Given the description of an element on the screen output the (x, y) to click on. 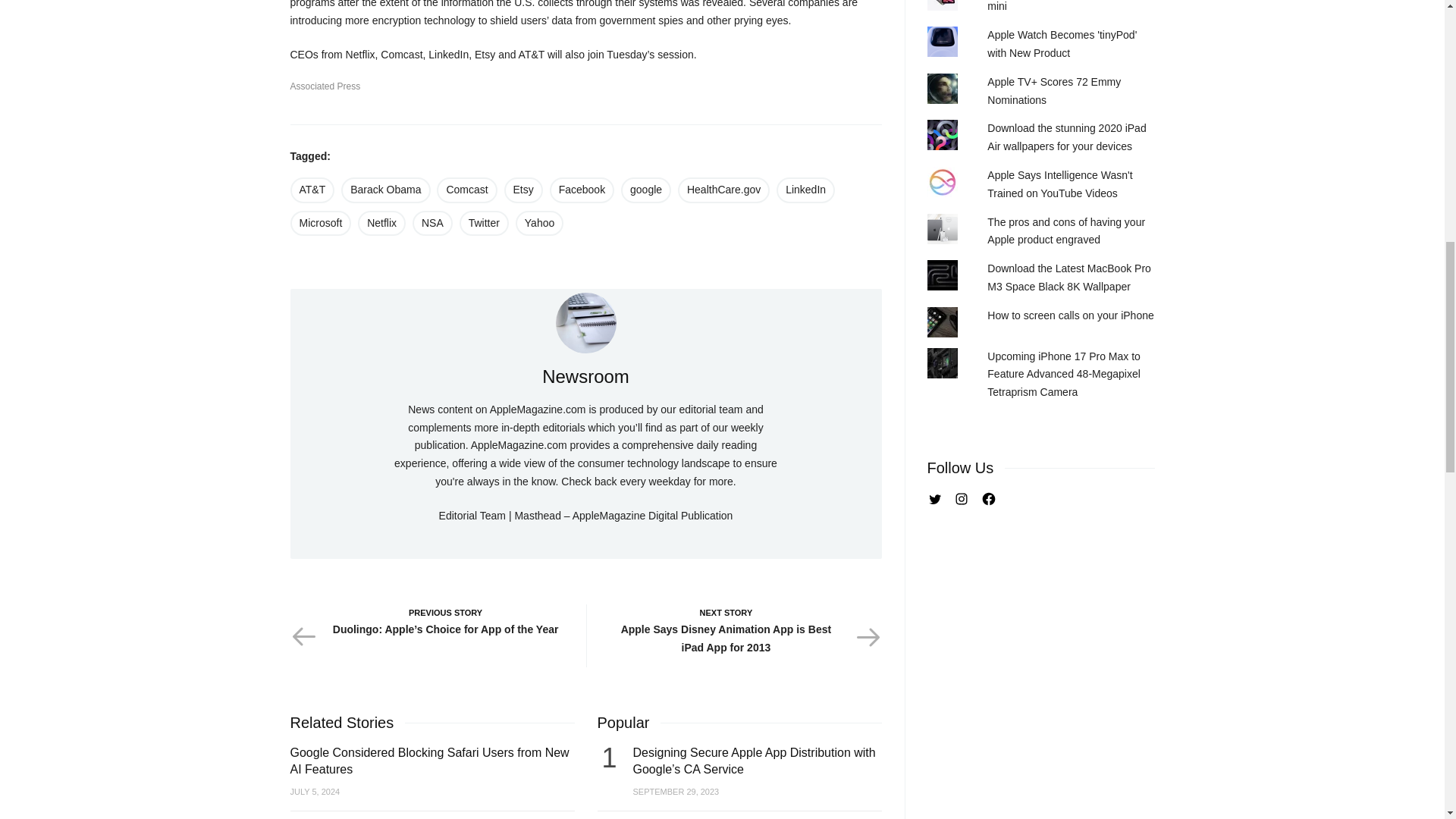
Newsroom (584, 376)
Newsroom (584, 322)
NSA (432, 223)
Comcast (466, 190)
Etsy (523, 190)
Microsoft (319, 223)
Twitter (484, 223)
LinkedIn (805, 190)
google (646, 190)
Barack Obama (384, 190)
Facebook (582, 190)
Netflix (382, 223)
HealthCare.gov (724, 190)
Yahoo (539, 223)
